Given the description of an element on the screen output the (x, y) to click on. 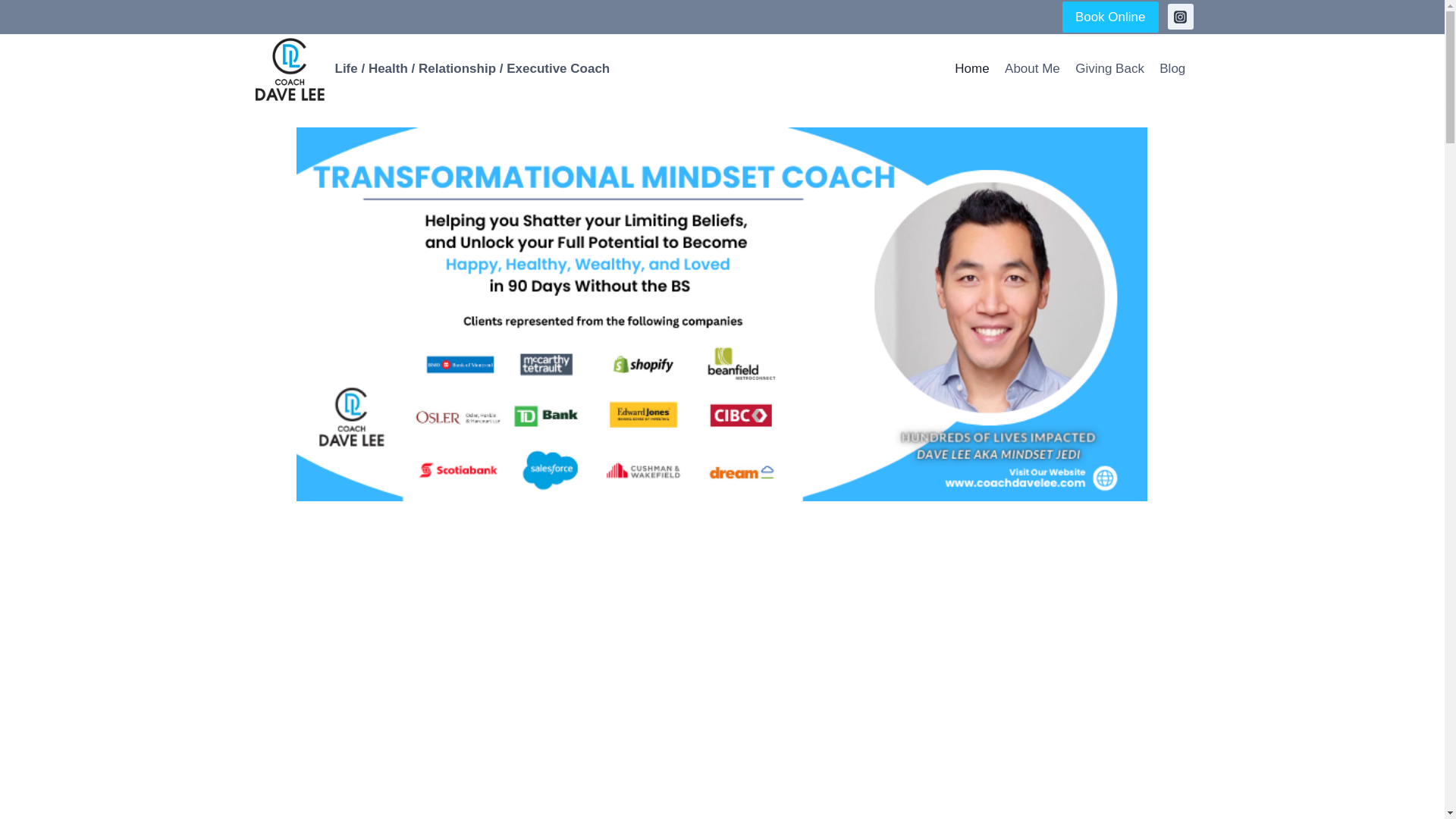
Blog (1171, 67)
Book Online (1110, 17)
Home (972, 67)
Giving Back (1109, 67)
About Me (1032, 67)
